Given the description of an element on the screen output the (x, y) to click on. 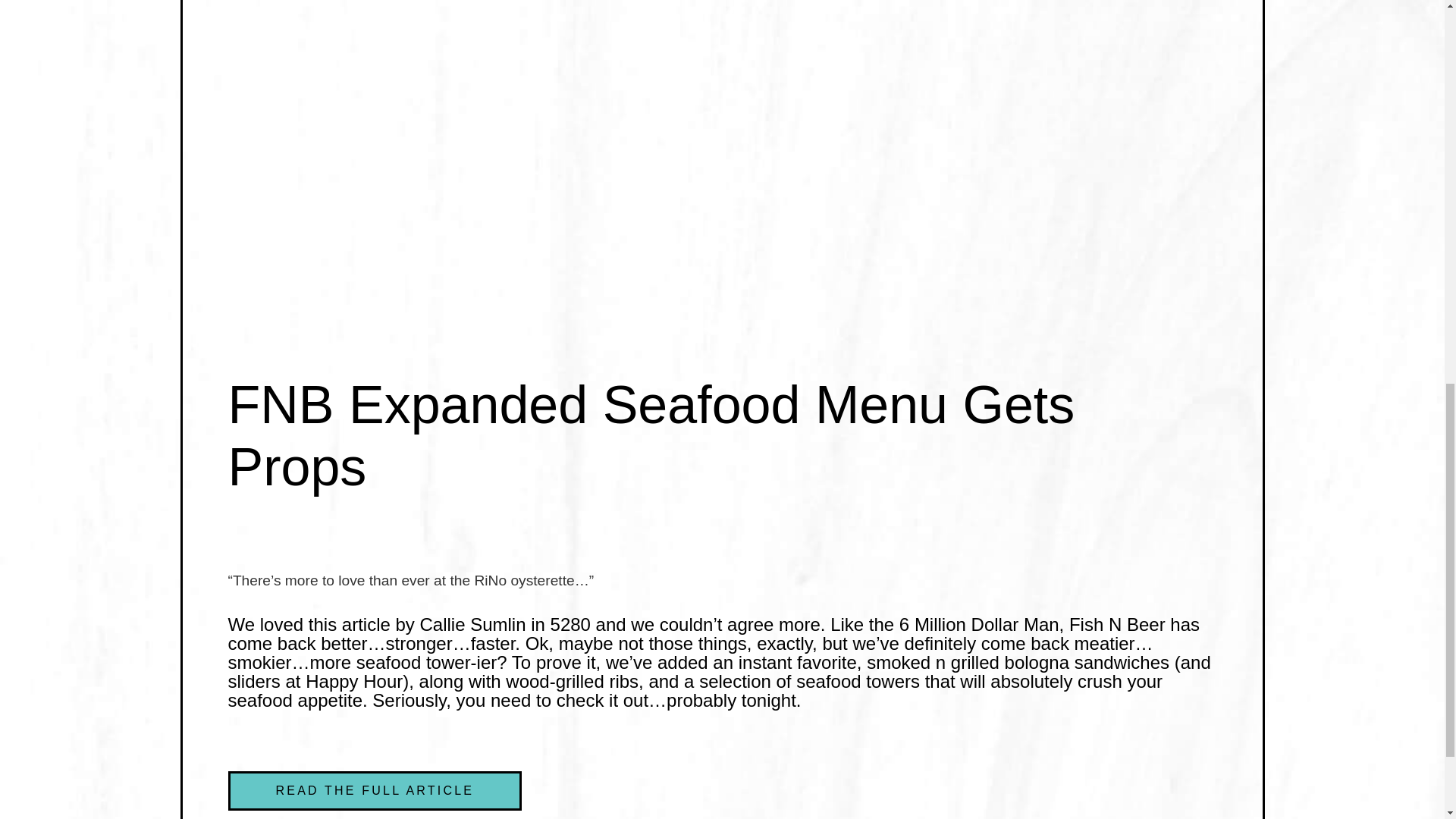
READ THE FULL ARTICLE (374, 790)
